Given the description of an element on the screen output the (x, y) to click on. 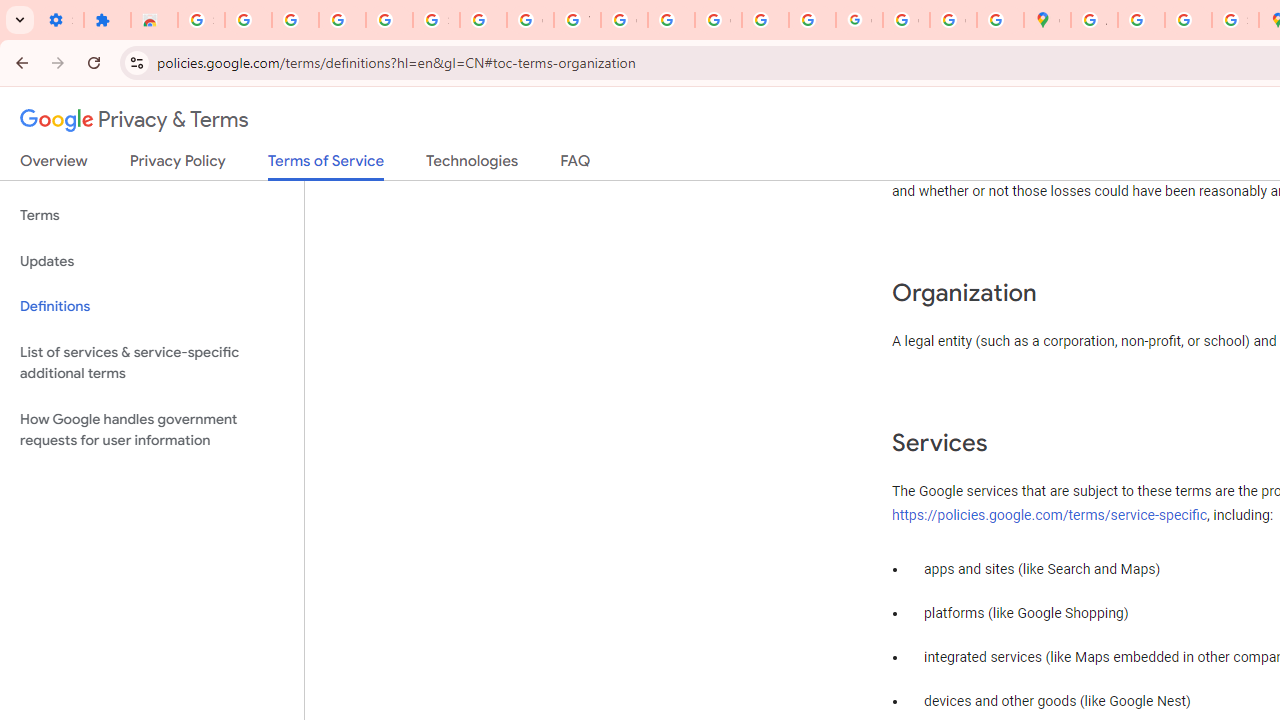
Settings - On startup (60, 20)
Sign in - Google Accounts (201, 20)
Privacy Policy (177, 165)
How Google handles government requests for user information (152, 429)
Learn how to find your photos - Google Photos Help (342, 20)
Overview (54, 165)
https://scholar.google.com/ (671, 20)
Sign in - Google Accounts (436, 20)
